Given the description of an element on the screen output the (x, y) to click on. 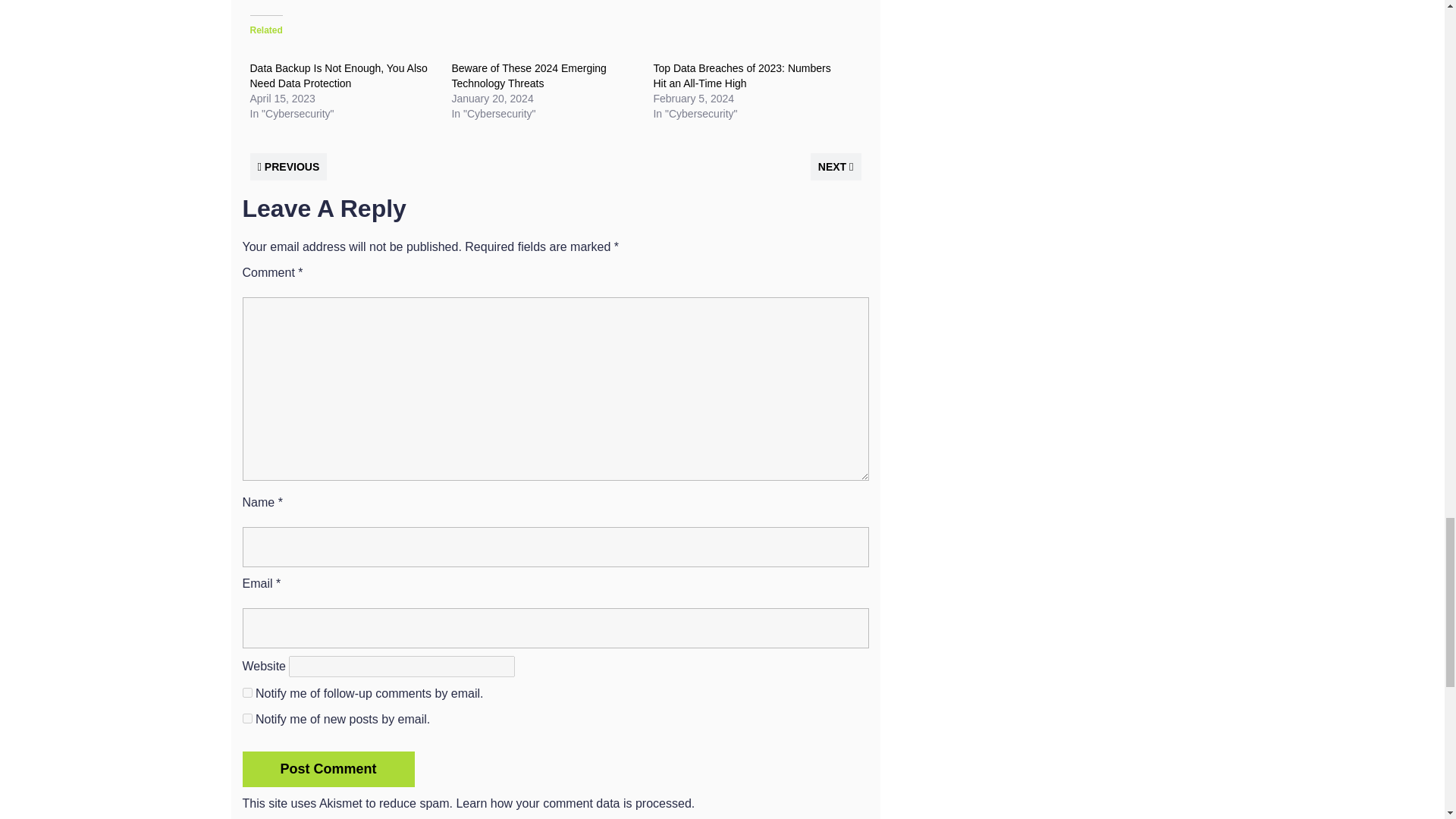
subscribe (247, 692)
Post Comment (328, 769)
Beware of These 2024 Emerging Technology Threats (528, 75)
subscribe (247, 718)
Data Backup Is Not Enough, You Also Need Data Protection (339, 75)
Top Data Breaches of 2023: Numbers Hit an All-Time High (740, 75)
